Given the description of an element on the screen output the (x, y) to click on. 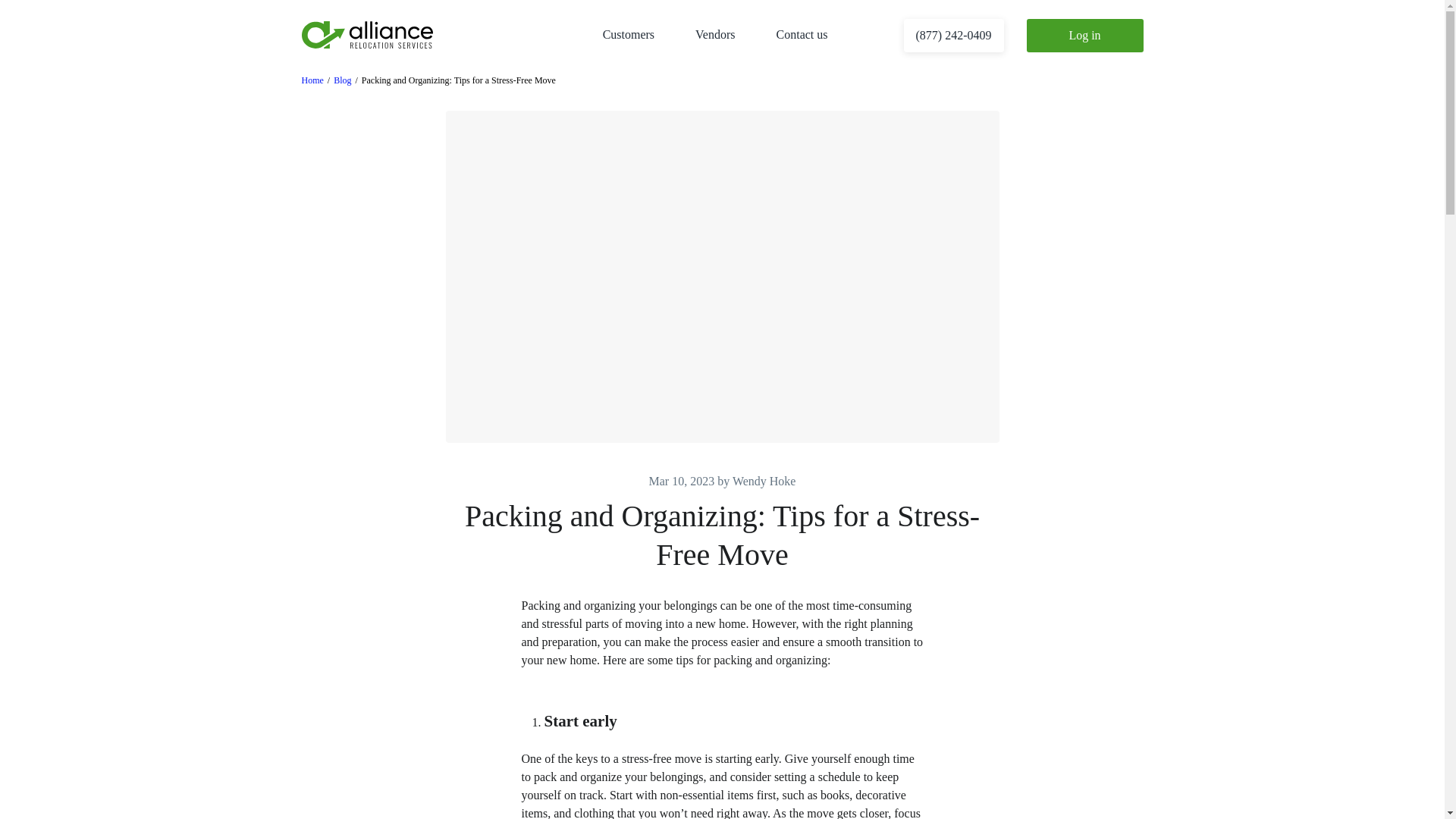
Vendors (715, 33)
Home (312, 80)
Contact us (802, 33)
Go to Blog. (341, 80)
Customers (627, 33)
Go to Alliance Relocation Services. (312, 80)
Blog (341, 80)
